Given the description of an element on the screen output the (x, y) to click on. 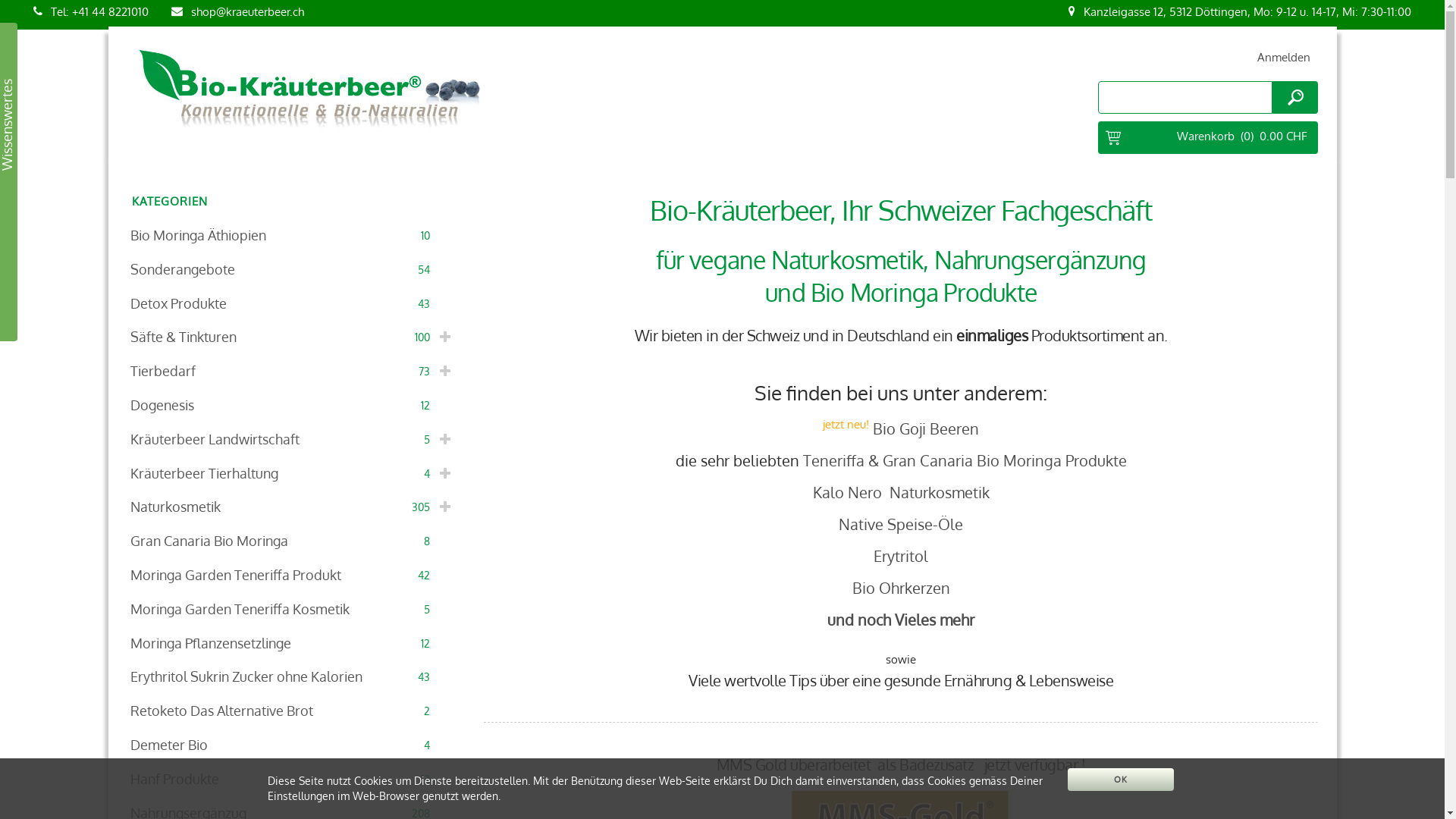
Sonderangebote
54 Element type: text (293, 269)
Demeter Bio
4 Element type: text (293, 745)
Bio Goji Beeren Element type: text (925, 428)
Bio Ohrkerzen Element type: text (901, 587)
Gran Canaria Bio Moringa
8 Element type: text (293, 541)
und noch Vieles mehr Element type: text (900, 619)
Anmelden Element type: text (1283, 56)
Detox Produkte
43 Element type: text (293, 303)
Kalo Nero  Naturkosmetik Element type: text (900, 492)
OK Element type: text (1120, 779)
Dogenesis
12 Element type: text (293, 405)
Warenkorb (0)0.00 CHF Element type: text (1207, 137)
Erythritol Sukrin Zucker ohne Kalorien
43 Element type: text (293, 676)
Moringa Pflanzensetzlinge
12 Element type: text (293, 643)
Hanf Produkte
12 Element type: text (293, 779)
Retoketo Das Alternative Brot
2 Element type: text (293, 710)
Tierbedarf
73 Element type: text (293, 371)
Naturkosmetik
305 Element type: text (293, 506)
Moringa Garden Teneriffa Produkt
42 Element type: text (293, 575)
Teneriffa & Gran Canaria Bio Moringa Produkte Element type: text (964, 460)
Moringa Garden Teneriffa Kosmetik
5 Element type: text (293, 609)
Erytritol Element type: text (900, 555)
